Given the description of an element on the screen output the (x, y) to click on. 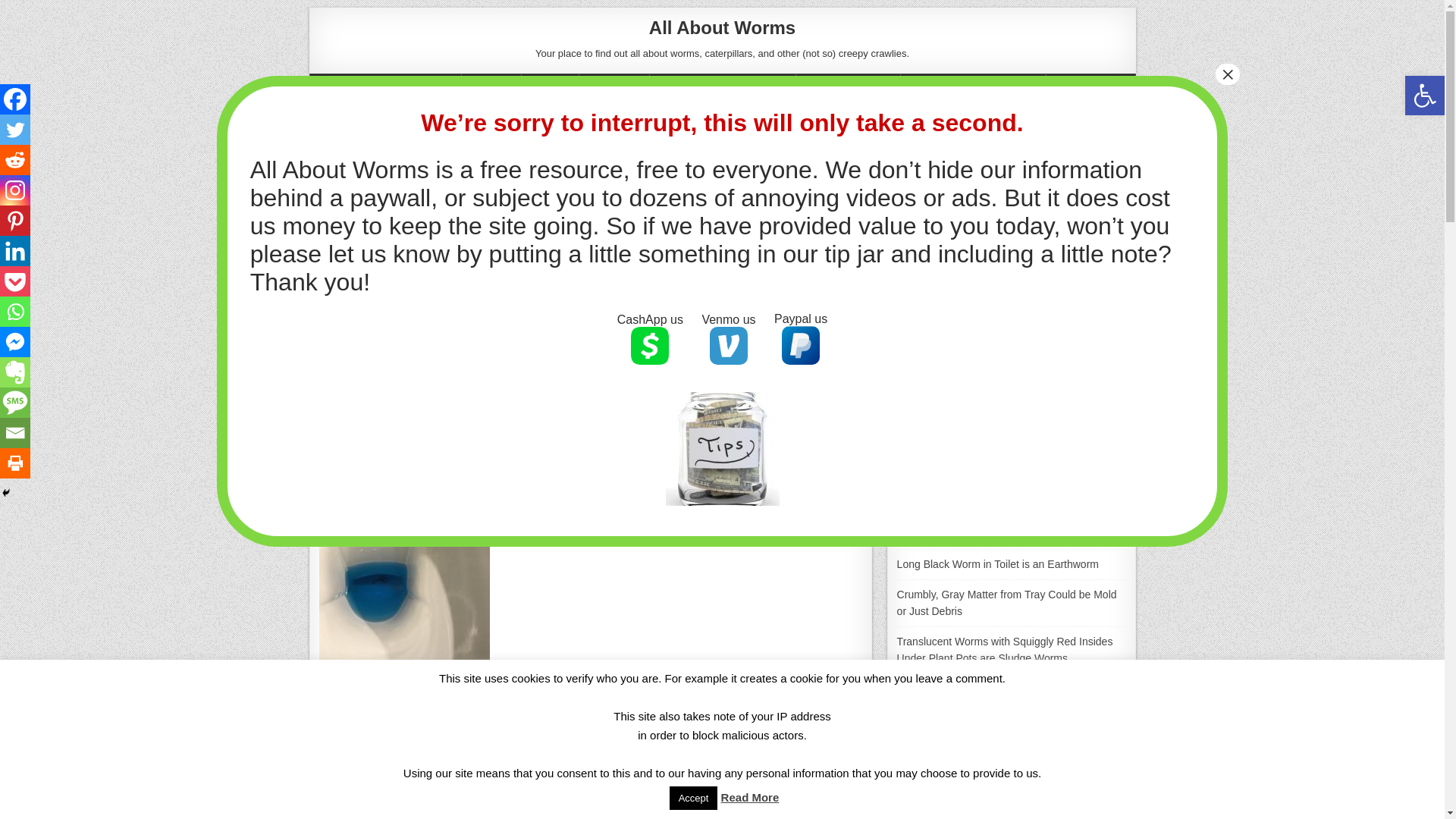
Email (659, 206)
Search (1074, 413)
Facebook (333, 206)
GET PARASITE HELP NOW! (384, 90)
Evernote (599, 206)
Pocket (481, 206)
PRIVACY POLICY (848, 90)
Print (688, 206)
Advertisement (589, 398)
TERMS AND CONDITIONS (973, 90)
Instagram (422, 206)
TOPICS (491, 90)
Whatsapp (540, 206)
Reddit (451, 206)
SMS (628, 206)
